Given the description of an element on the screen output the (x, y) to click on. 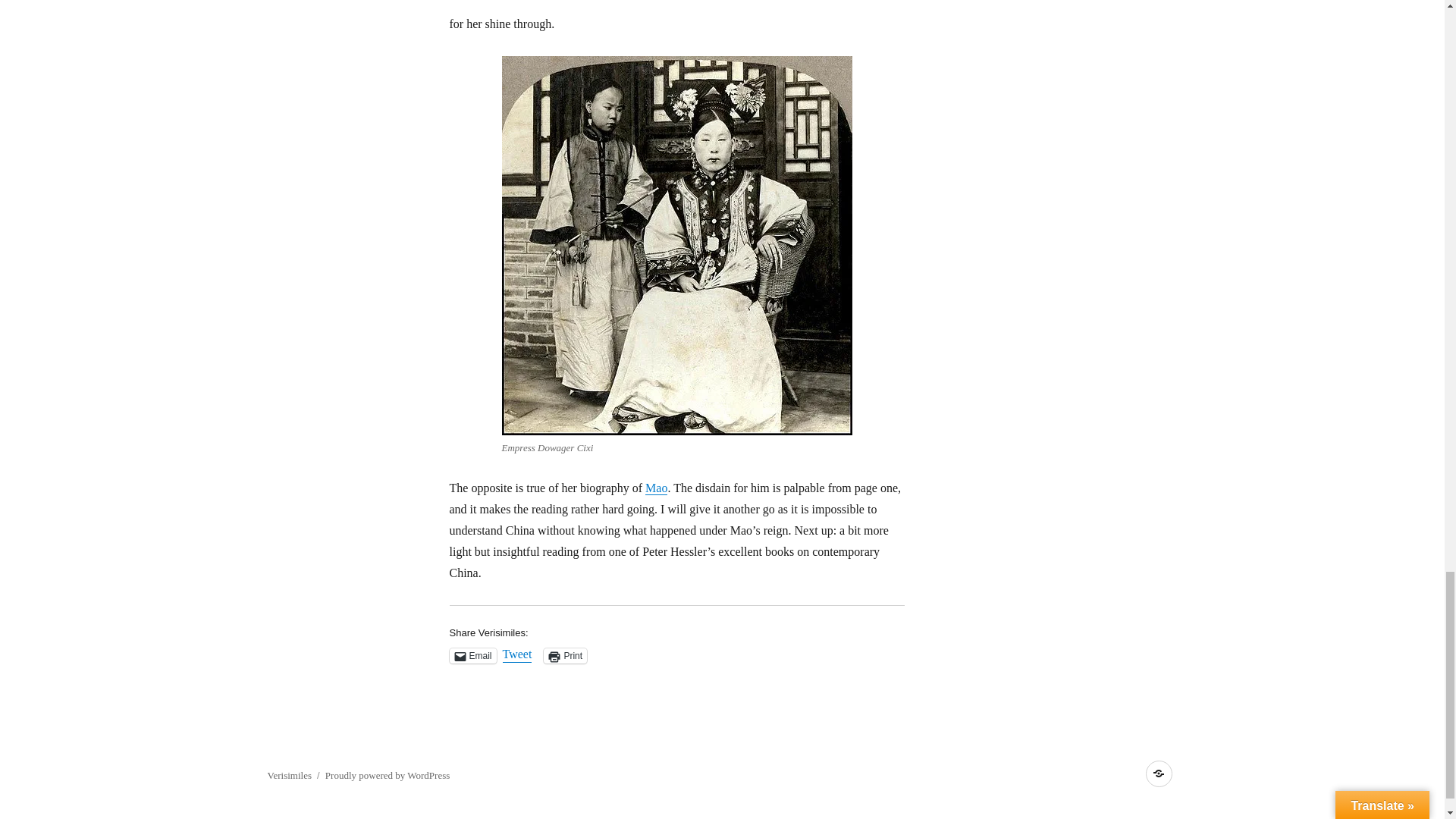
About (1158, 773)
Verisimiles (288, 775)
Click to email a link to a friend (472, 655)
Email (472, 655)
Click to print (564, 655)
Proudly powered by WordPress (386, 775)
Mao (655, 487)
Print (564, 655)
Tweet (517, 654)
